Given the description of an element on the screen output the (x, y) to click on. 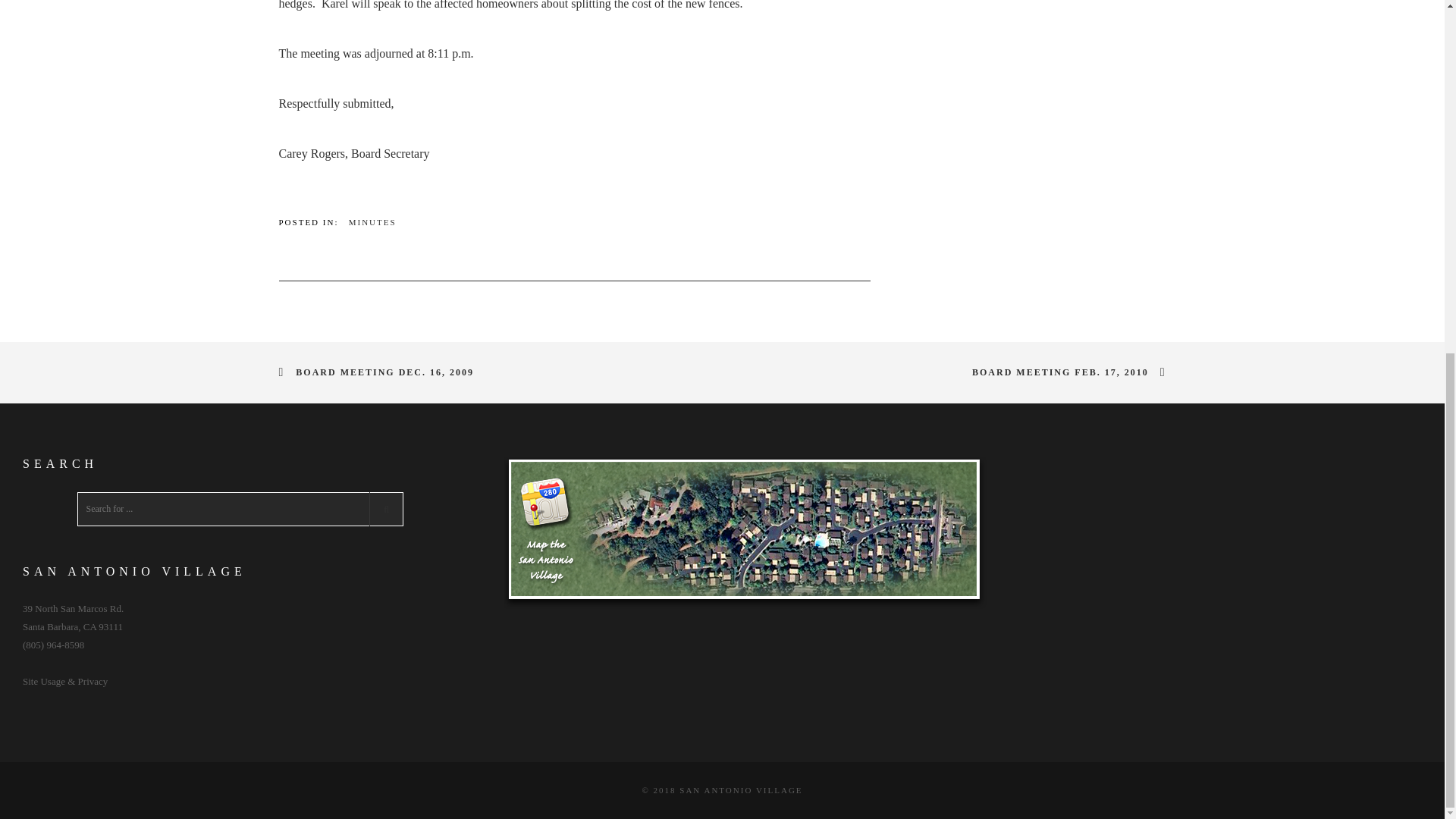
MINUTES (372, 221)
BOARD MEETING DEC. 16, 2009 (382, 371)
BOARD MEETING FEB. 17, 2010 (1063, 371)
